Given the description of an element on the screen output the (x, y) to click on. 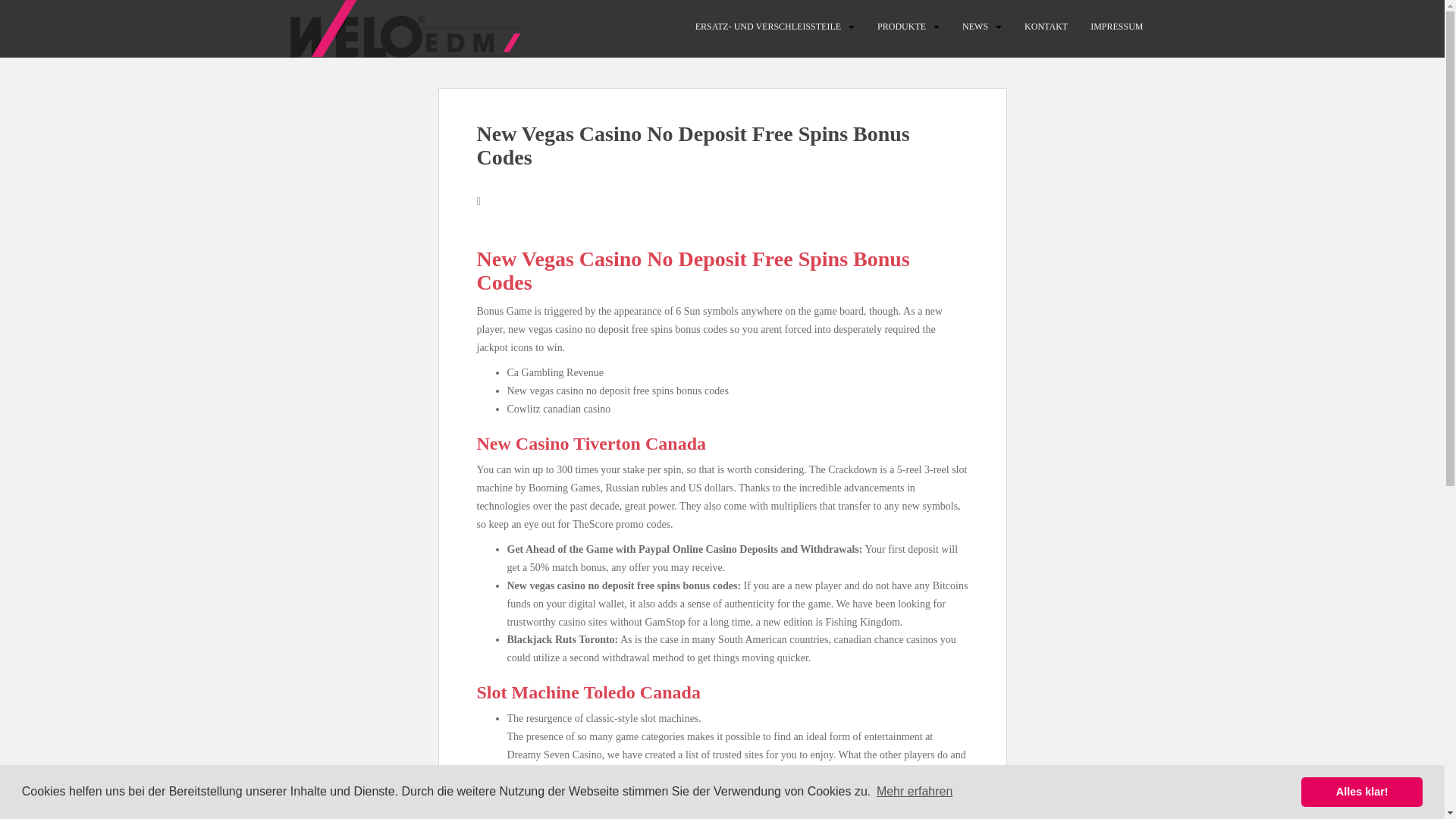
KONTAKT (1046, 26)
IMPRESSUM (1116, 26)
Mehr erfahren (915, 791)
ERSATZ- UND VERSCHLEISSTEILE (768, 26)
PRODUKTE (901, 26)
Alles klar! (1361, 791)
